Given the description of an element on the screen output the (x, y) to click on. 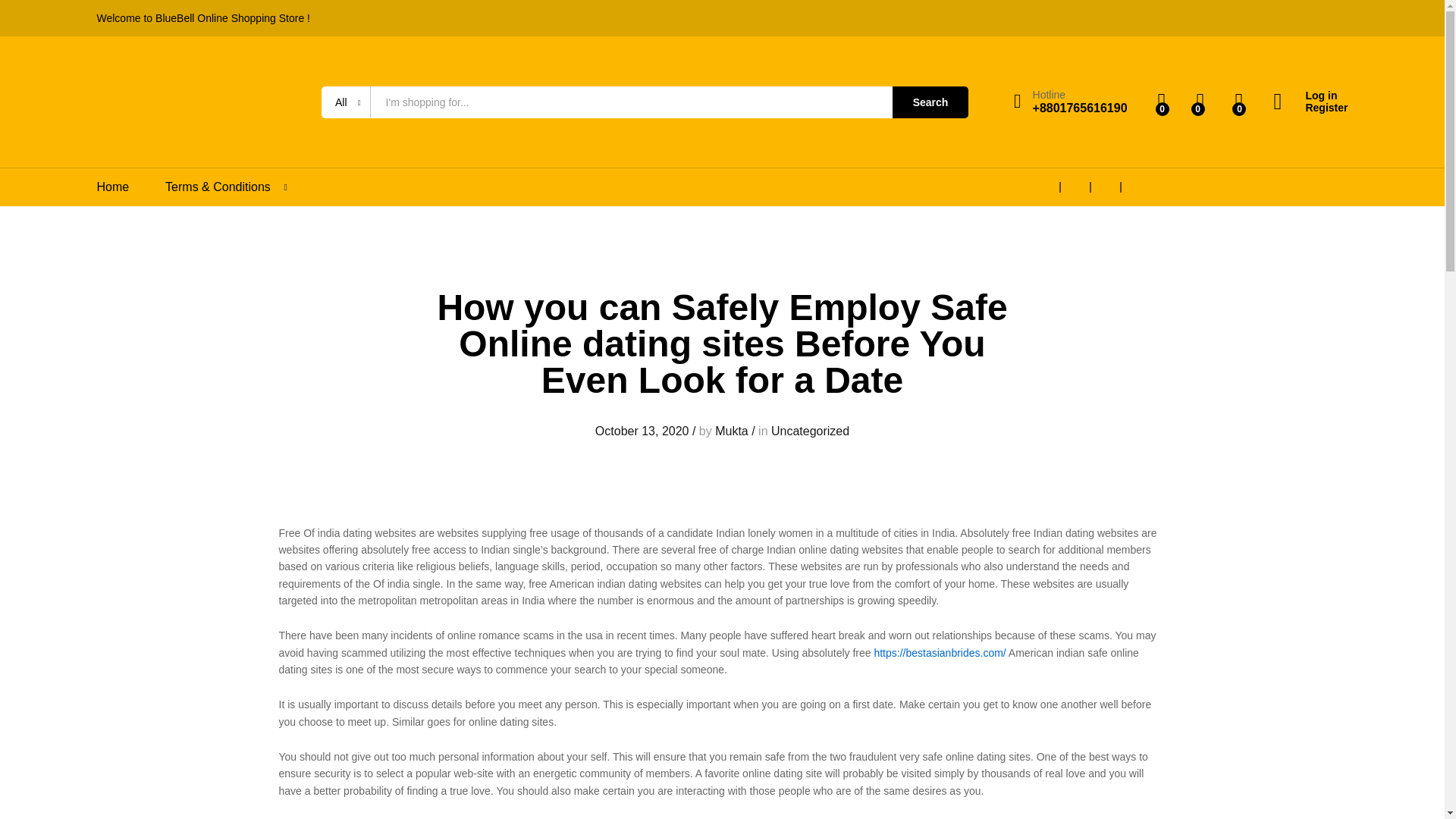
Mukta (731, 431)
Uncategorized (809, 431)
Log in (1310, 95)
Home (113, 186)
Search (930, 101)
Register (1310, 107)
October 13, 2020 (641, 431)
